Given the description of an element on the screen output the (x, y) to click on. 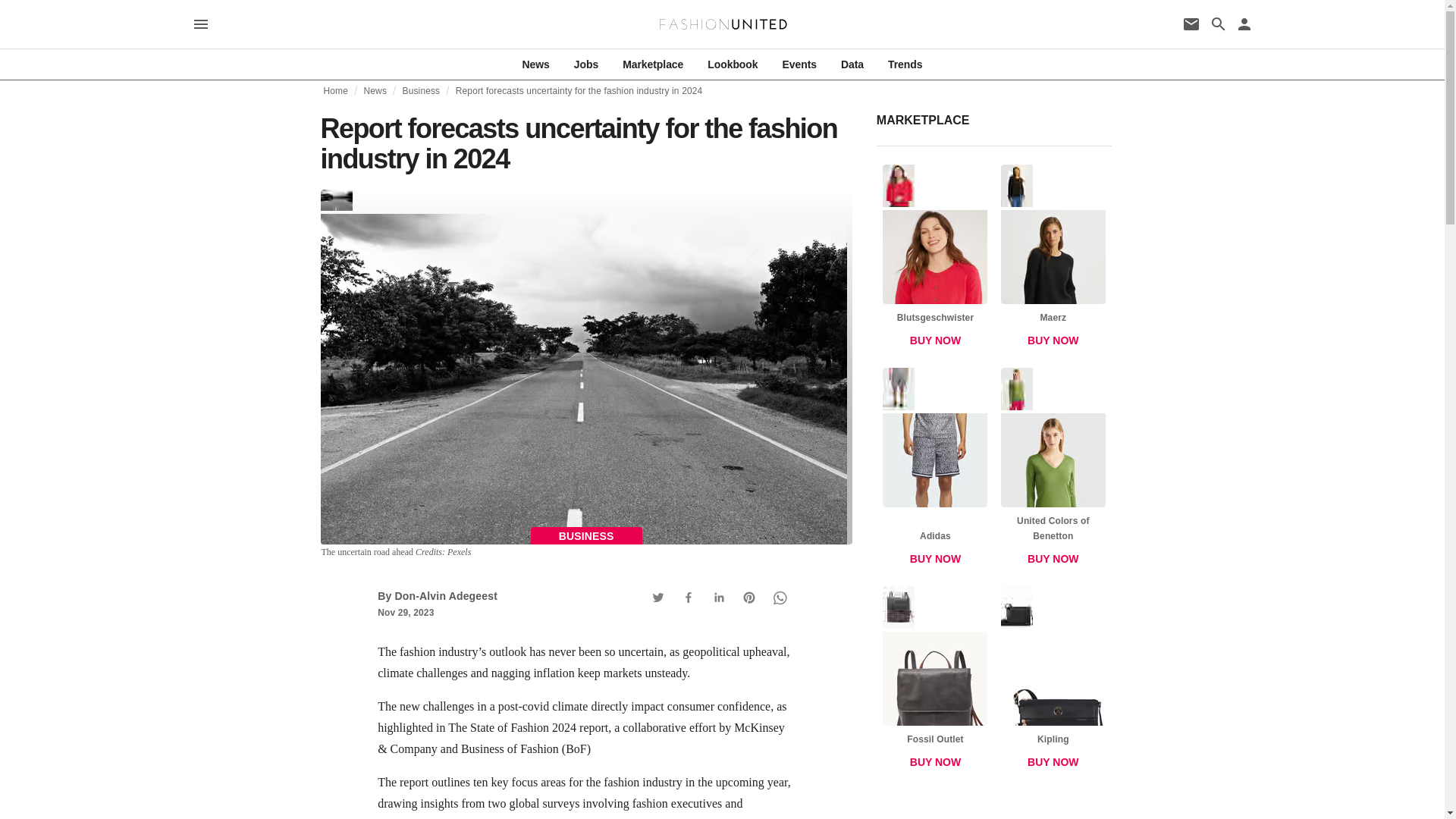
Cardigan Knot Hop (934, 258)
BUY NOW (935, 470)
Home (935, 340)
Trends (935, 681)
Data (335, 90)
Marketplace (1052, 259)
Adicross Delivery Printed Shorts (935, 259)
Jobs (905, 64)
Events (852, 64)
Crossbody Ambrosia Black Dazz Wk Schwarz Medium (652, 64)
